Given the description of an element on the screen output the (x, y) to click on. 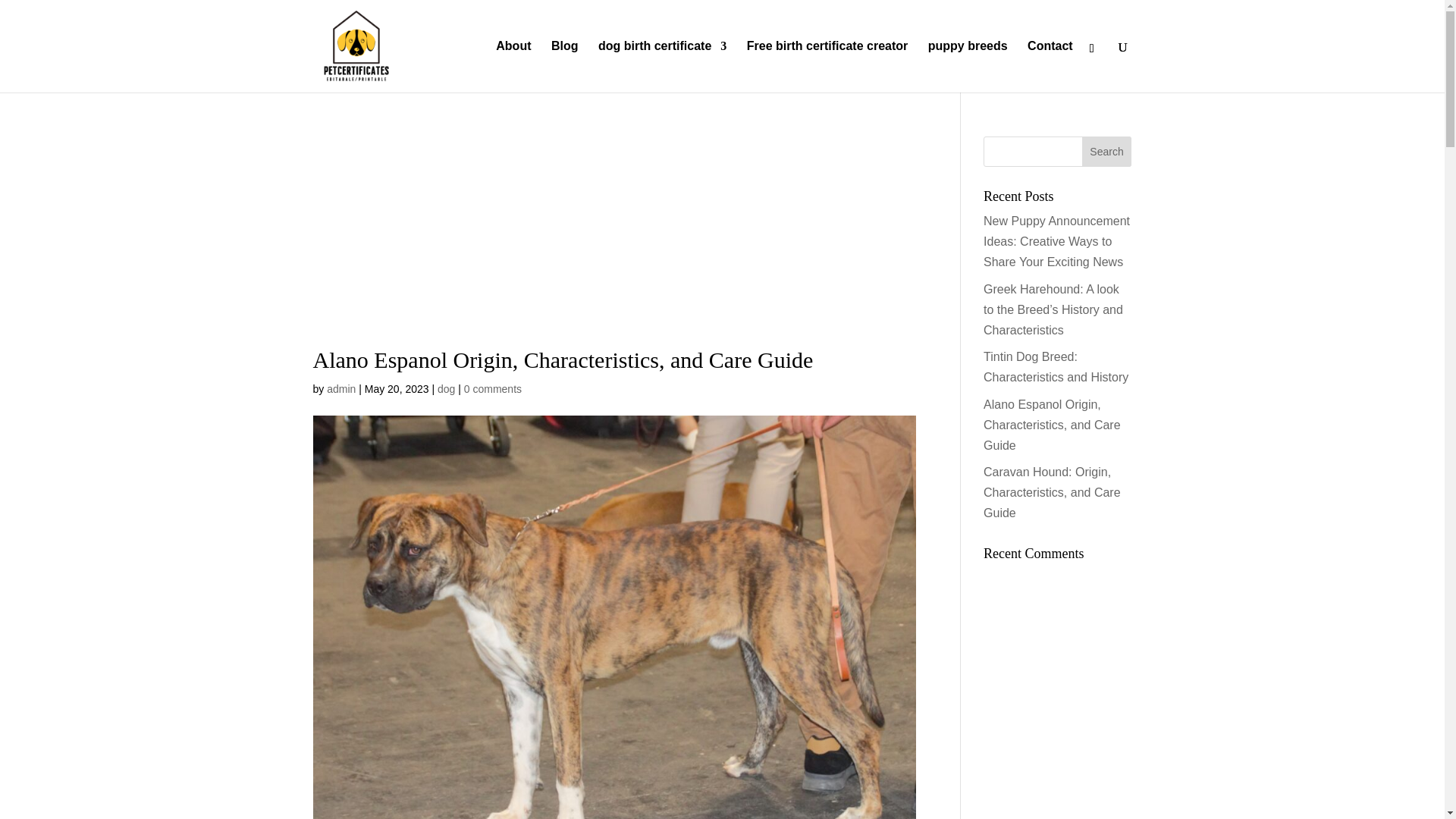
Free birth certificate creator (827, 66)
admin (340, 388)
Posts by admin (340, 388)
Alano Espanol Origin, Characteristics, and Care Guide (1052, 424)
Tintin Dog Breed: Characteristics and History (1056, 367)
dog (446, 388)
Search (1106, 151)
Search (1106, 151)
puppy breeds (967, 66)
Advertisement (614, 242)
Caravan Hound: Origin, Characteristics, and Care Guide (1052, 492)
Blog (564, 66)
0 comments (492, 388)
Advertisement (1057, 704)
